Given the description of an element on the screen output the (x, y) to click on. 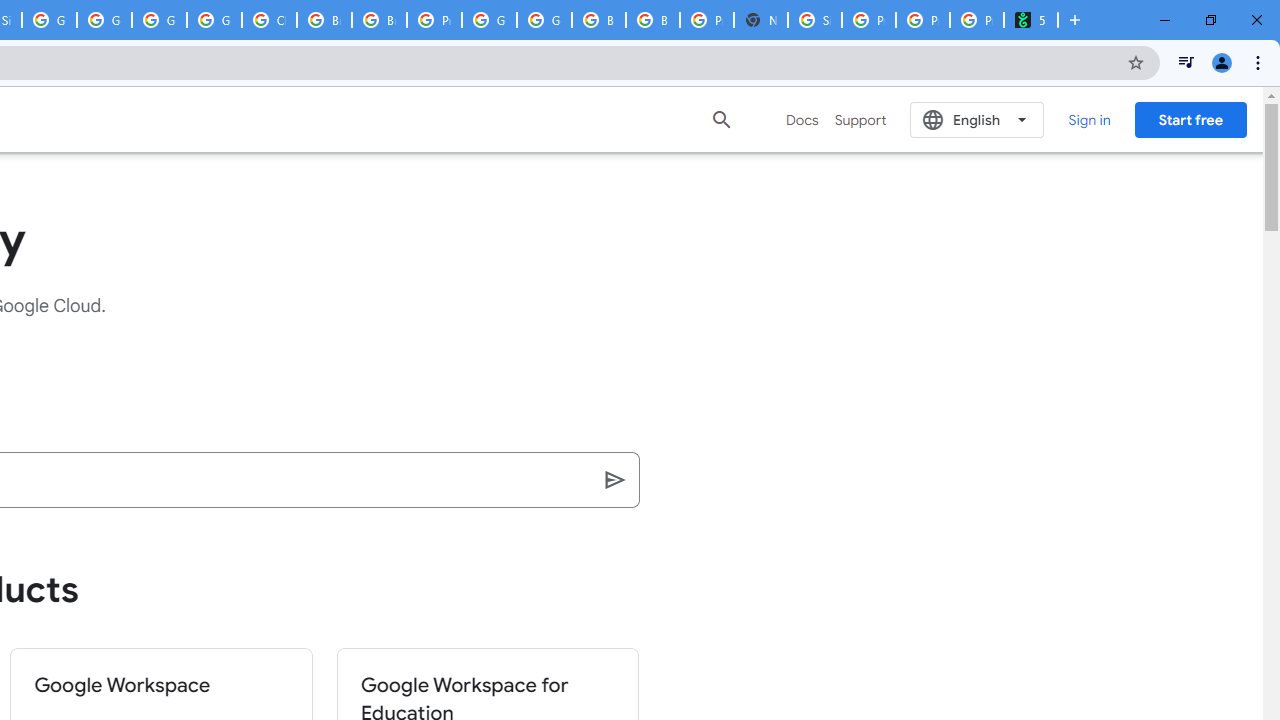
Browse Chrome as a guest - Computer - Google Chrome Help (324, 20)
New Tab (760, 20)
Sign in - Google Accounts (815, 20)
Google Cloud Platform (158, 20)
Browse Chrome as a guest - Computer - Google Chrome Help (598, 20)
Start free (1190, 119)
Google Cloud Platform (489, 20)
